Given the description of an element on the screen output the (x, y) to click on. 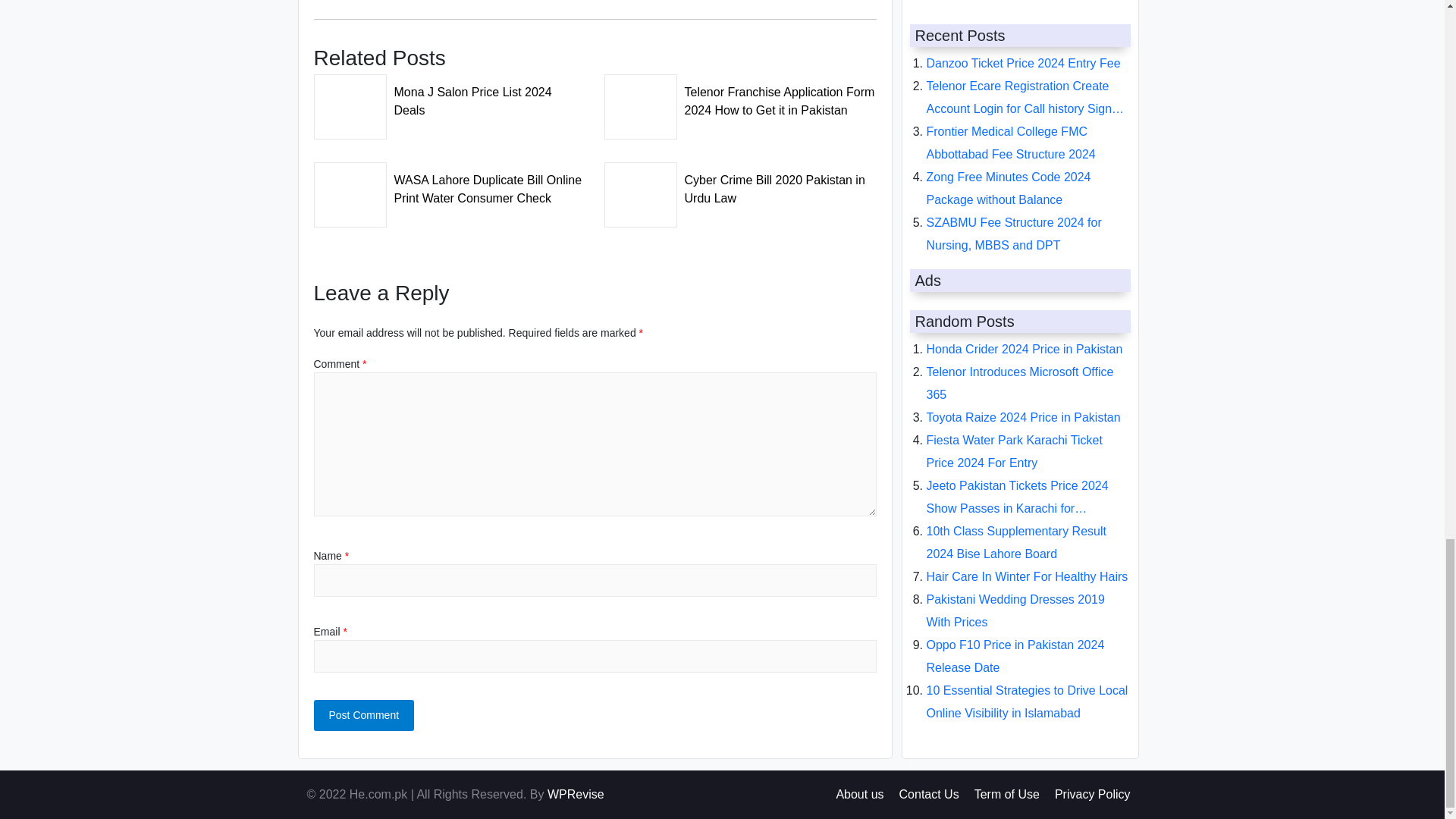
Post Comment (364, 715)
WPRevise (575, 793)
Cyber Crime Bill 2020 Pakistan in Urdu Law (740, 185)
WASA Lahore Duplicate Bill Online Print Water Consumer Check (450, 185)
About us (859, 793)
Contact Us (929, 793)
Mona J Salon Price List 2024 Deals (450, 96)
Post Comment (364, 715)
